Given the description of an element on the screen output the (x, y) to click on. 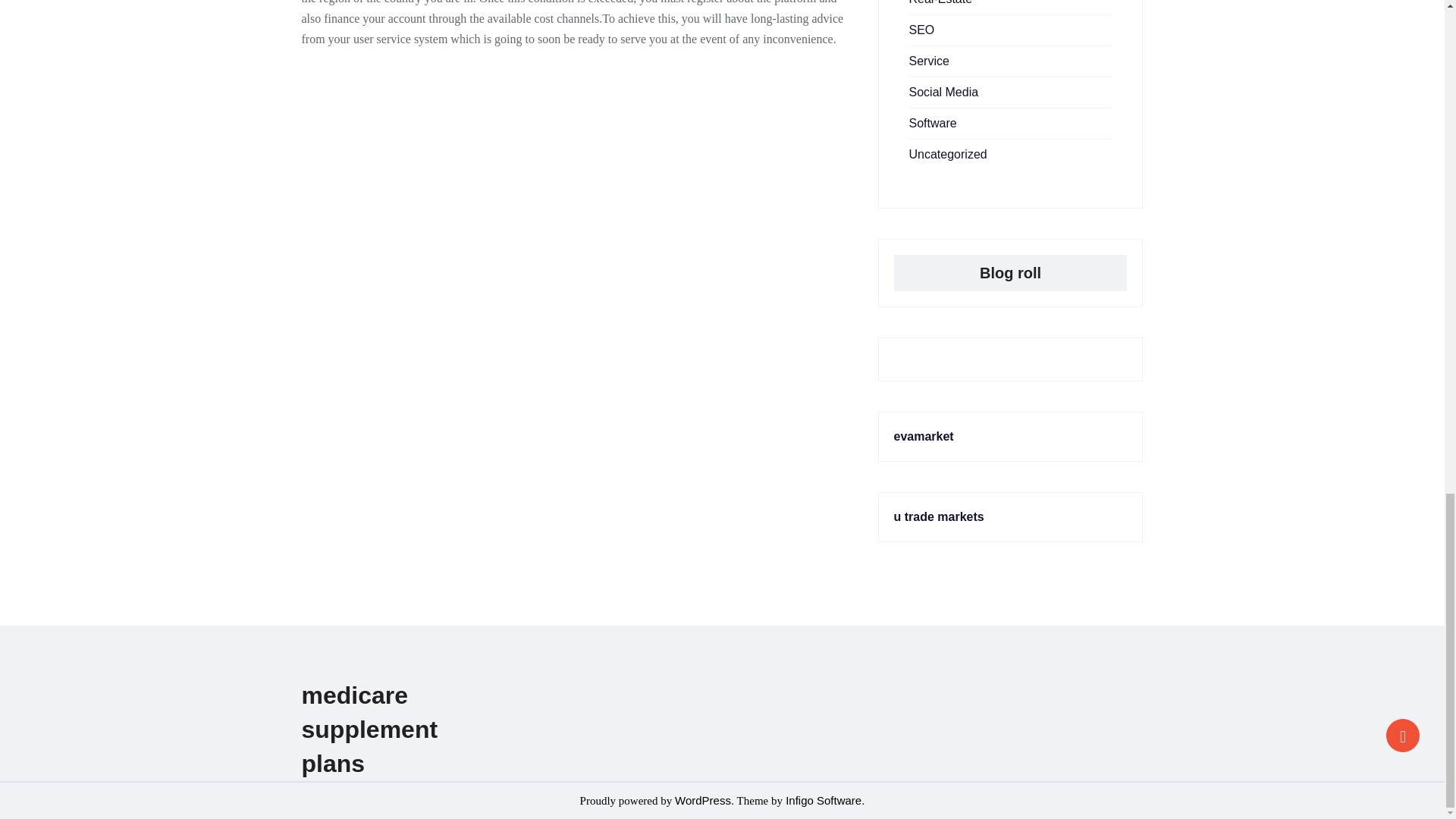
Software (932, 123)
Social Media (943, 91)
WordPress. (704, 799)
medicare supplement plans (369, 729)
SEO (921, 29)
Uncategorized (947, 154)
evamarket (923, 436)
Real-Estate (940, 2)
u trade markets (938, 516)
Infigo Software. (823, 799)
